Given the description of an element on the screen output the (x, y) to click on. 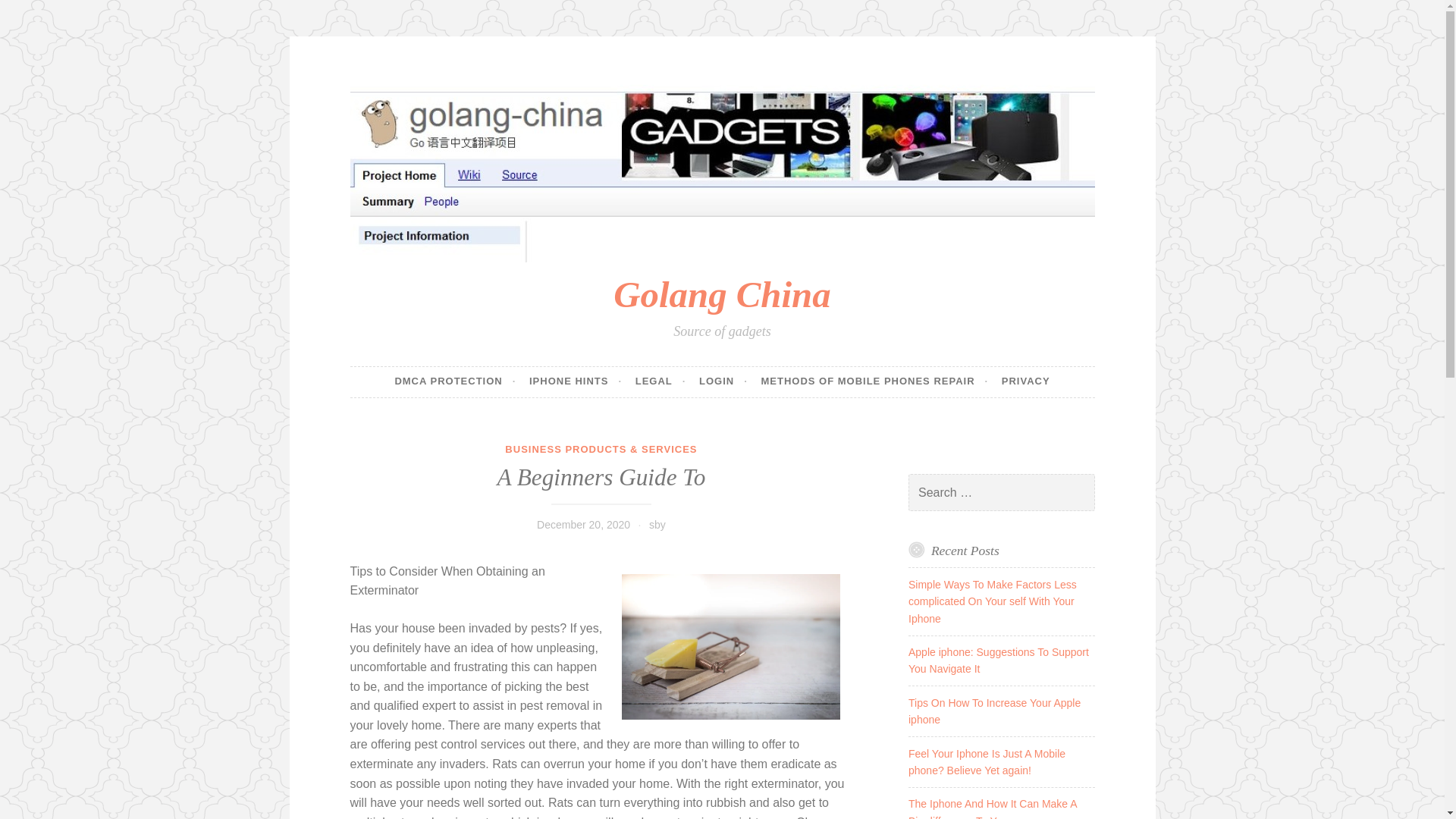
IPHONE HINTS (575, 381)
Feel Your Iphone Is Just A Mobile phone? Believe Yet again! (986, 761)
Tips On How To Increase Your Apple iphone (994, 710)
PRIVACY (1025, 381)
METHODS OF MOBILE PHONES REPAIR (874, 381)
The Iphone And How It Can Make A Big difference To You (992, 808)
sby (657, 524)
Search (33, 13)
DMCA PROTECTION (454, 381)
Apple iphone: Suggestions To Support You Navigate It (998, 660)
LEGAL (659, 381)
Golang China (720, 294)
LOGIN (723, 381)
